Given the description of an element on the screen output the (x, y) to click on. 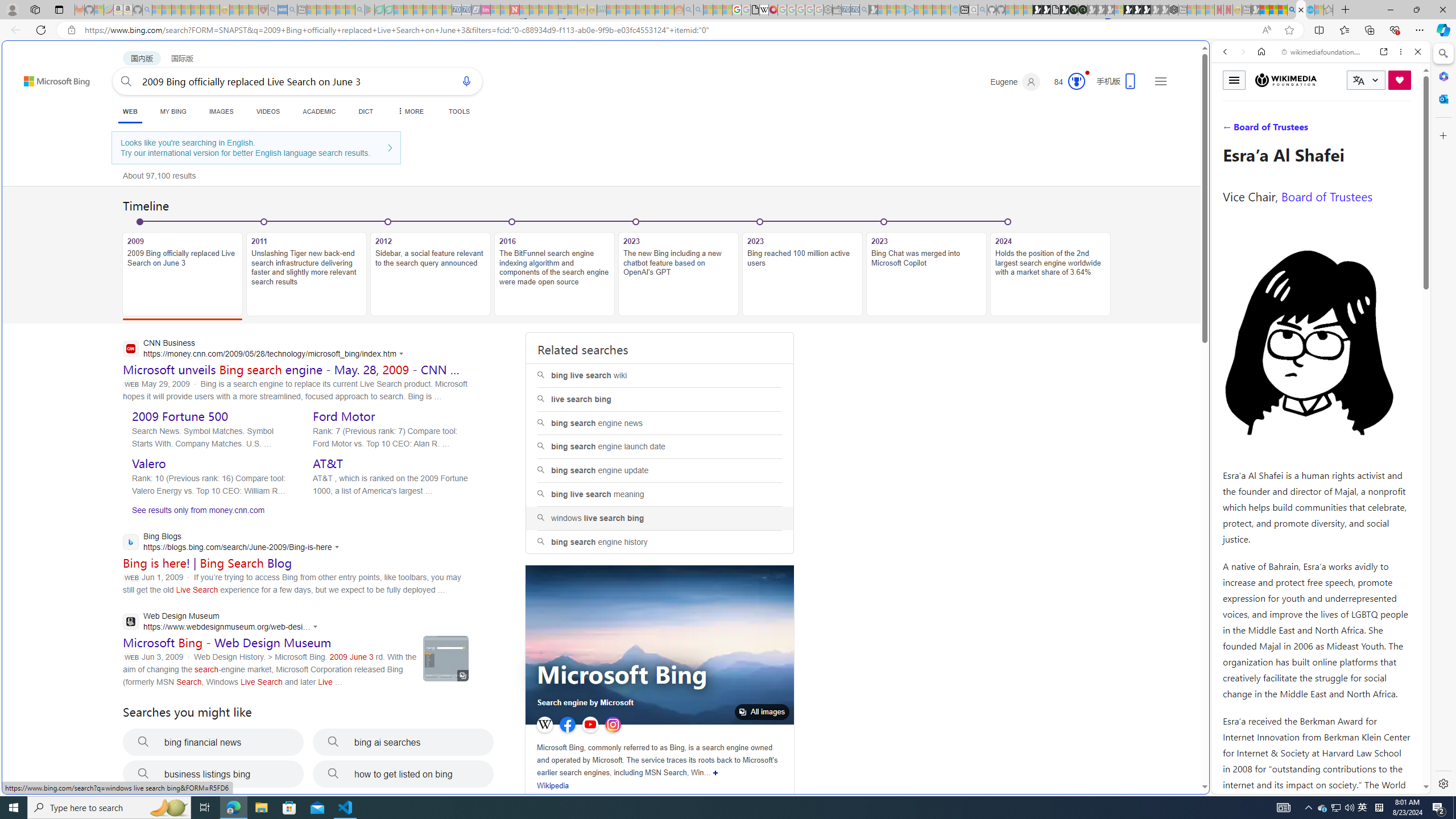
AutomationID: serp_medal_svg (1076, 81)
YouTube (590, 724)
MSN - Sleeping (1255, 9)
MY BING (172, 111)
bing search engine news (659, 423)
WEB (129, 112)
live search bing (659, 399)
bing financial news (213, 741)
